Given the description of an element on the screen output the (x, y) to click on. 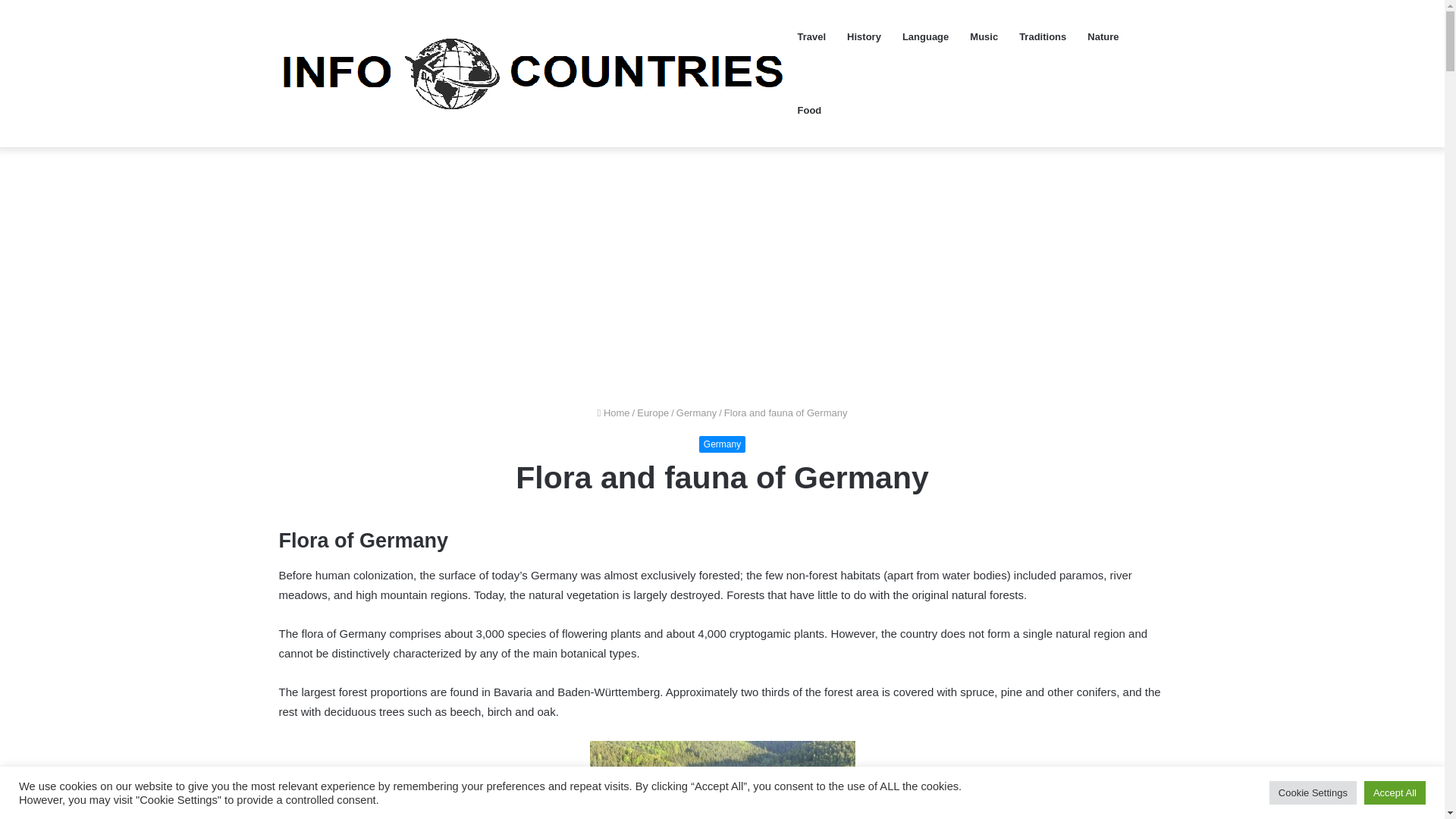
flora germany forest (722, 780)
Germany (696, 412)
Europe (652, 412)
Germany (721, 443)
Info Countries (533, 73)
Language (925, 36)
Home (613, 412)
Traditions (1043, 36)
